Given the description of an element on the screen output the (x, y) to click on. 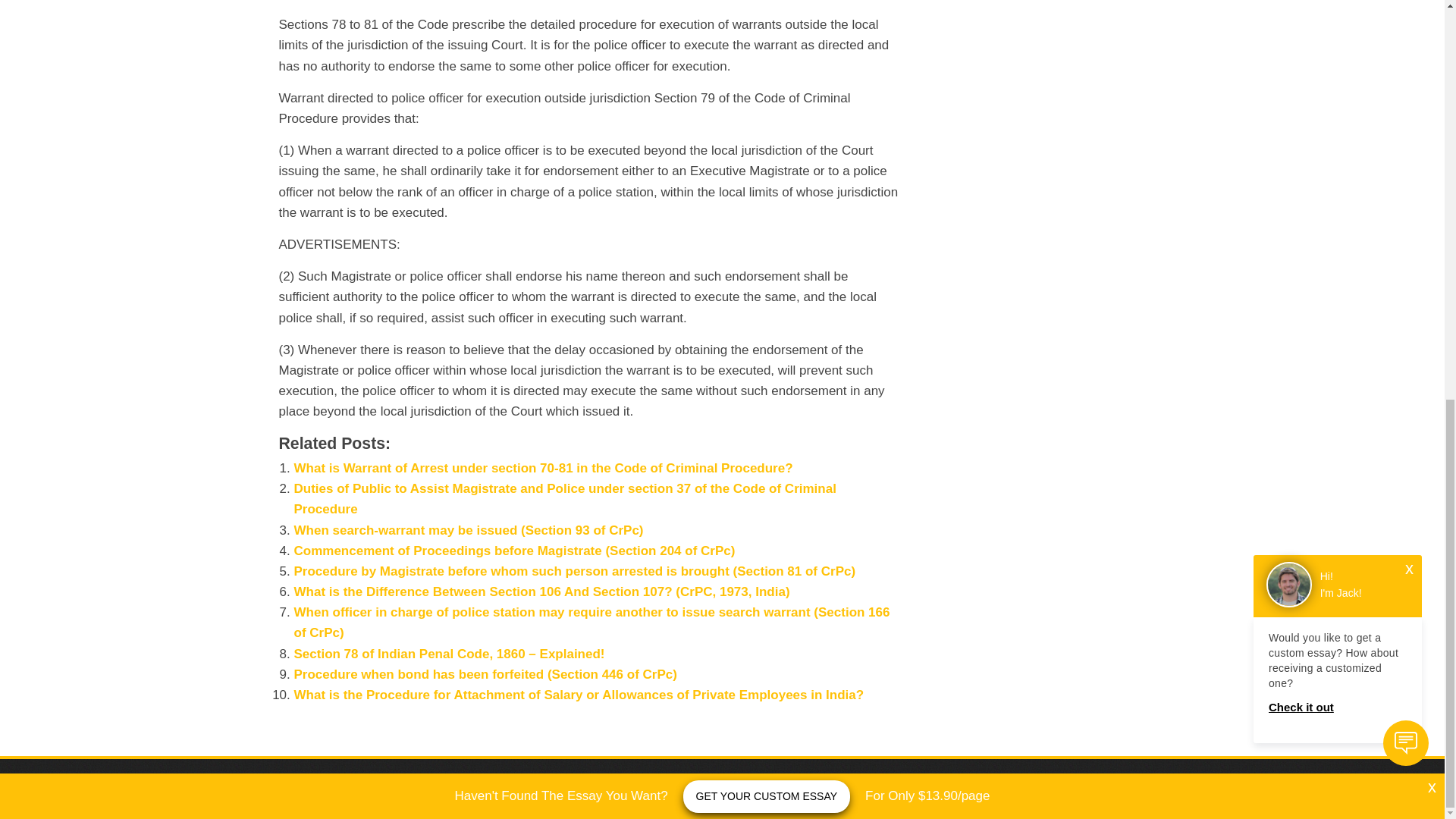
unlocking the future (759, 789)
GET YOUR CUSTOM ESSAY (766, 17)
